Given the description of an element on the screen output the (x, y) to click on. 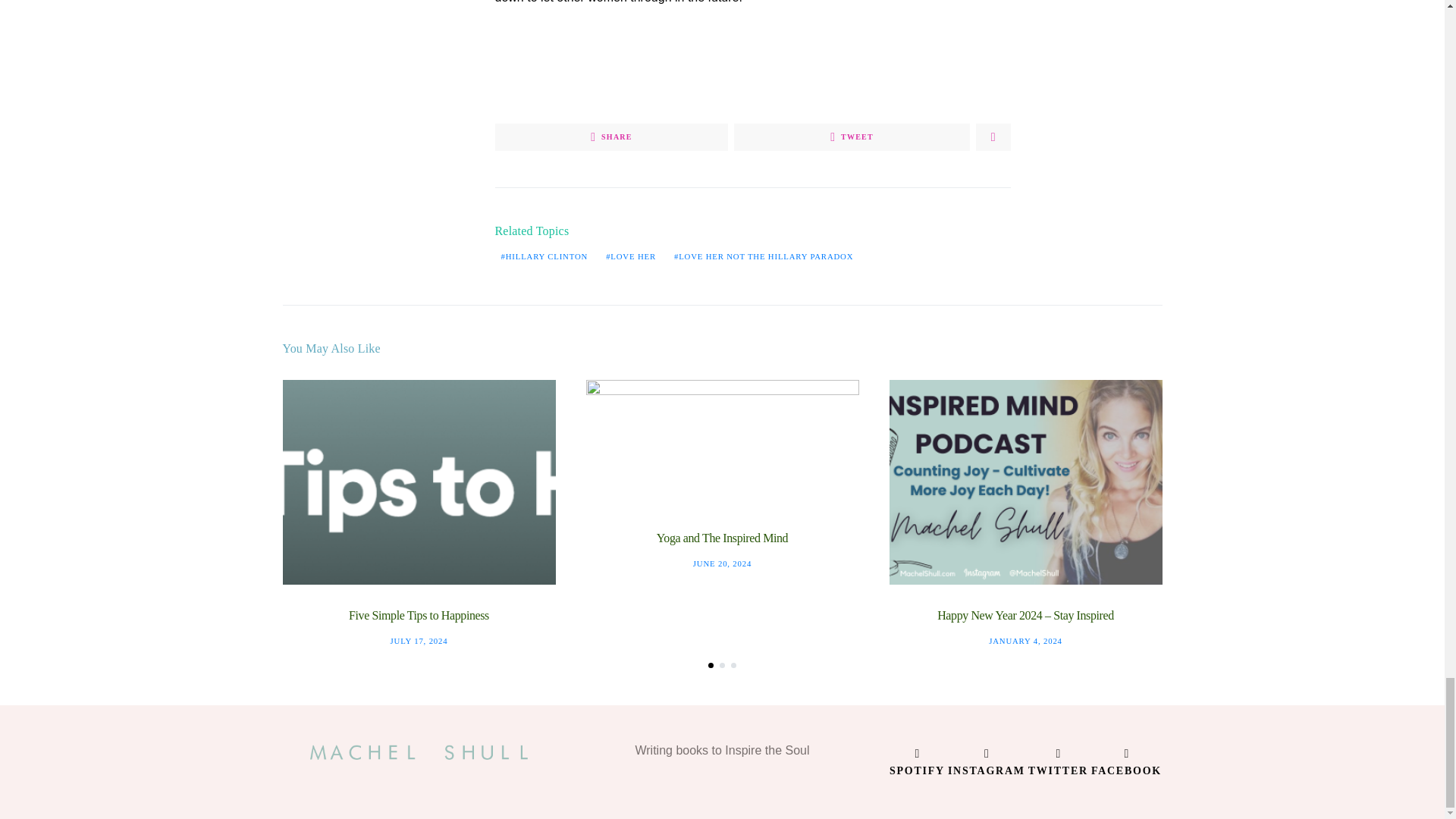
SHARE (611, 136)
TWEET (851, 136)
